Given the description of an element on the screen output the (x, y) to click on. 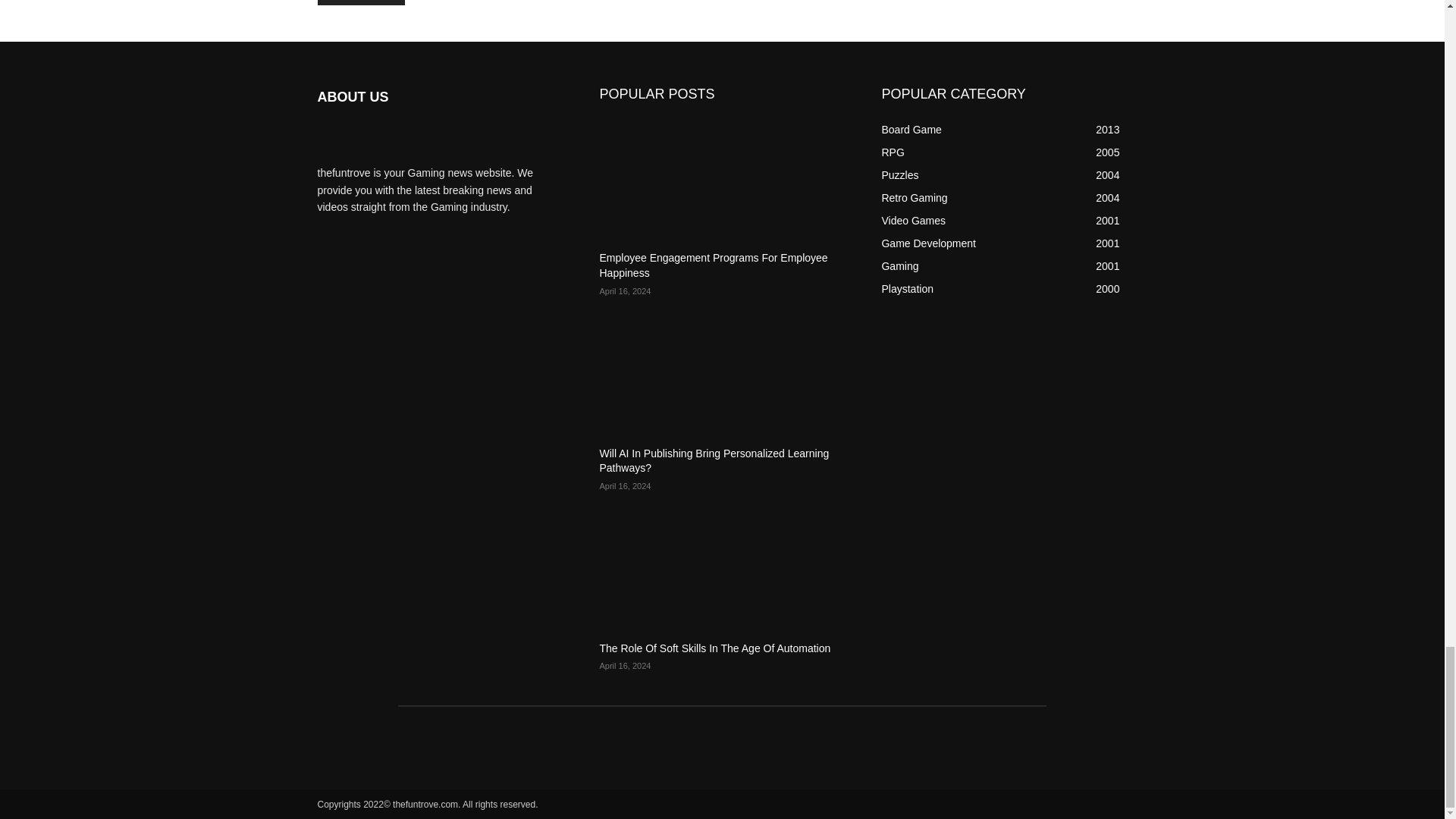
Post Comment (360, 2)
